Given the description of an element on the screen output the (x, y) to click on. 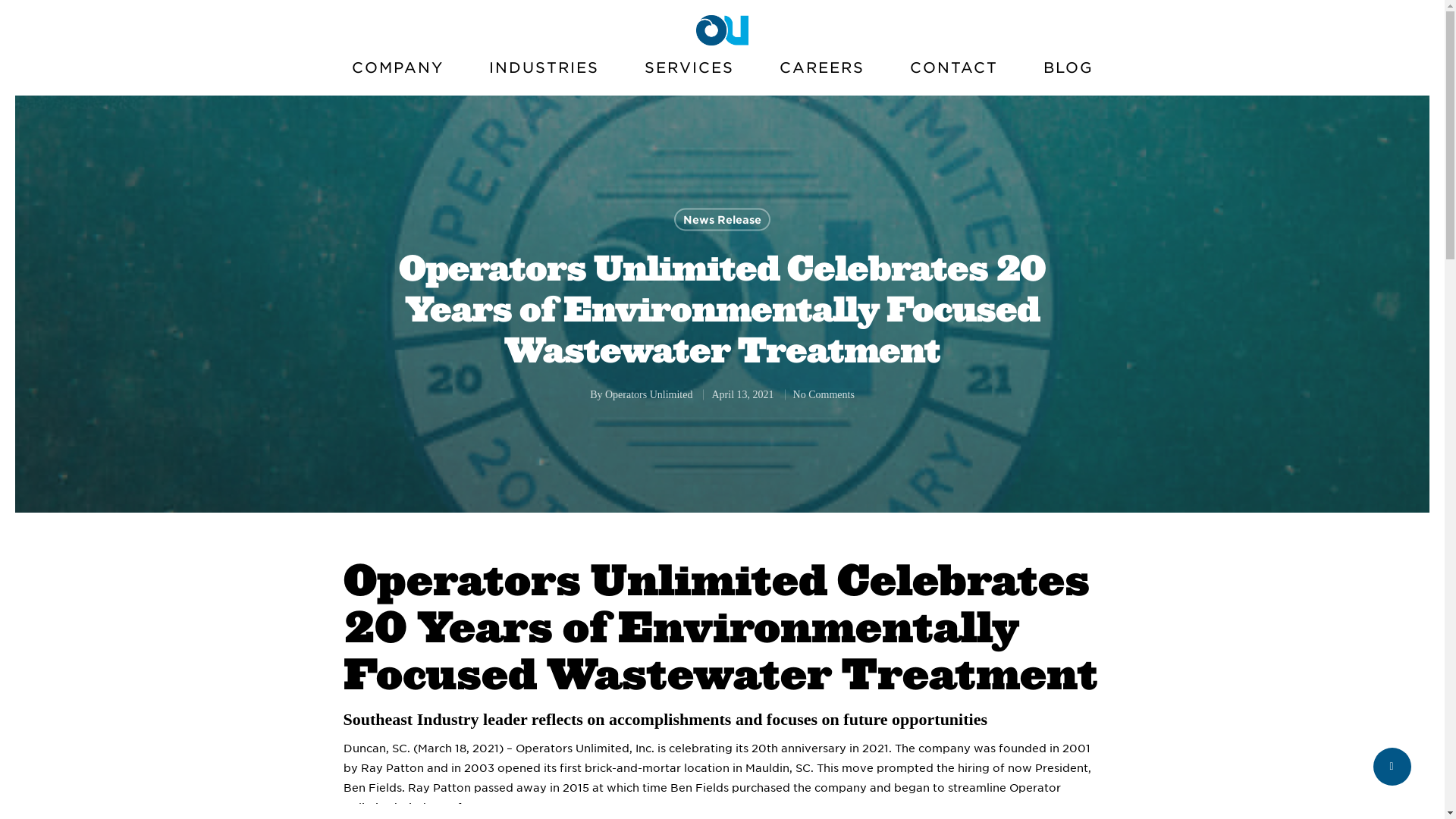
Operators Unlimited (649, 393)
Posts by Operators Unlimited (649, 393)
BLOG (1068, 75)
CAREERS (821, 75)
COMPANY (397, 75)
SERVICES (689, 75)
News Release (721, 219)
No Comments (823, 393)
INDUSTRIES (543, 75)
CONTACT (953, 75)
